Given the description of an element on the screen output the (x, y) to click on. 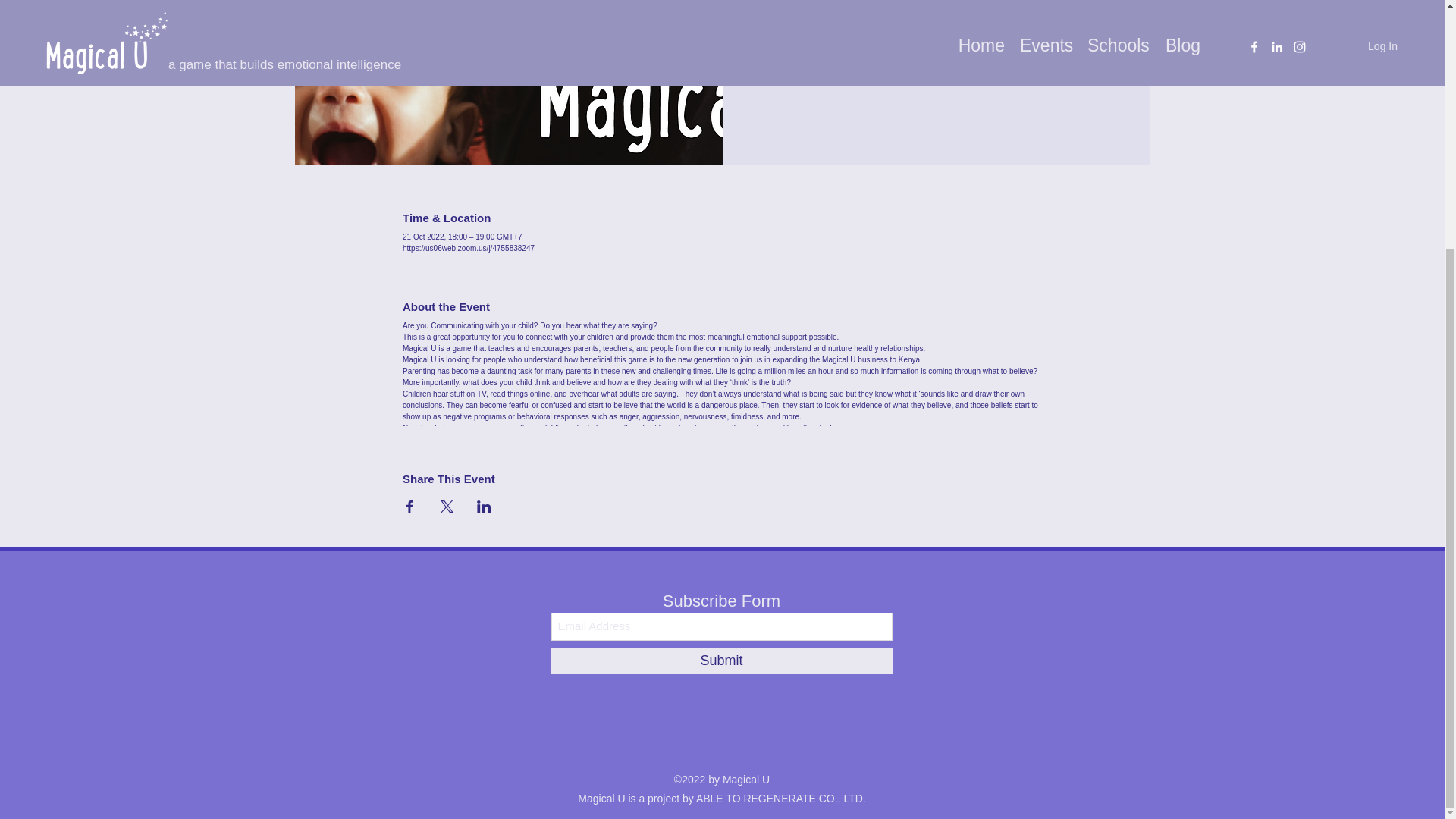
See other events (935, 26)
Submit (720, 660)
